Given the description of an element on the screen output the (x, y) to click on. 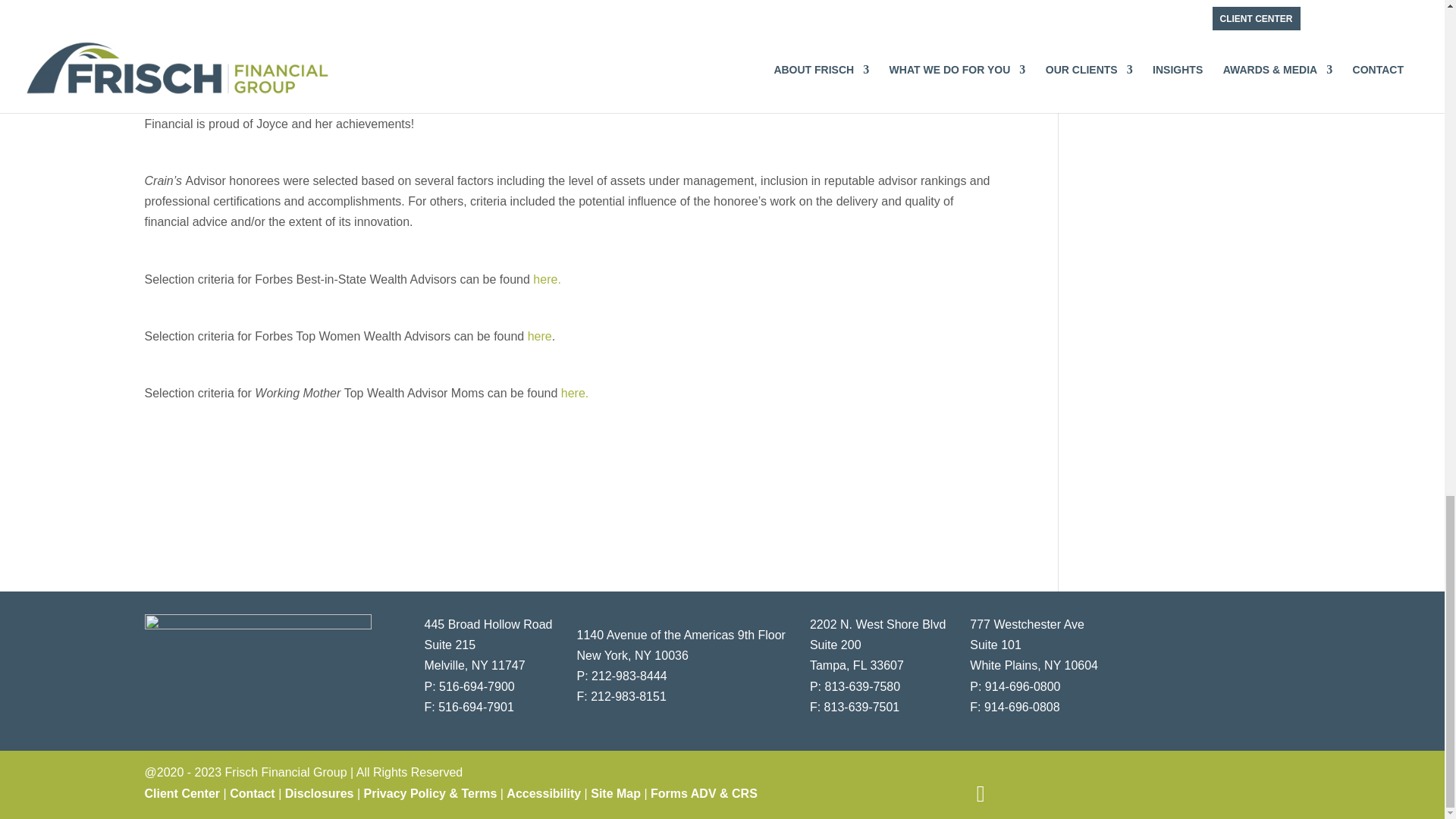
here. (544, 278)
here (539, 336)
here. (574, 392)
